Given the description of an element on the screen output the (x, y) to click on. 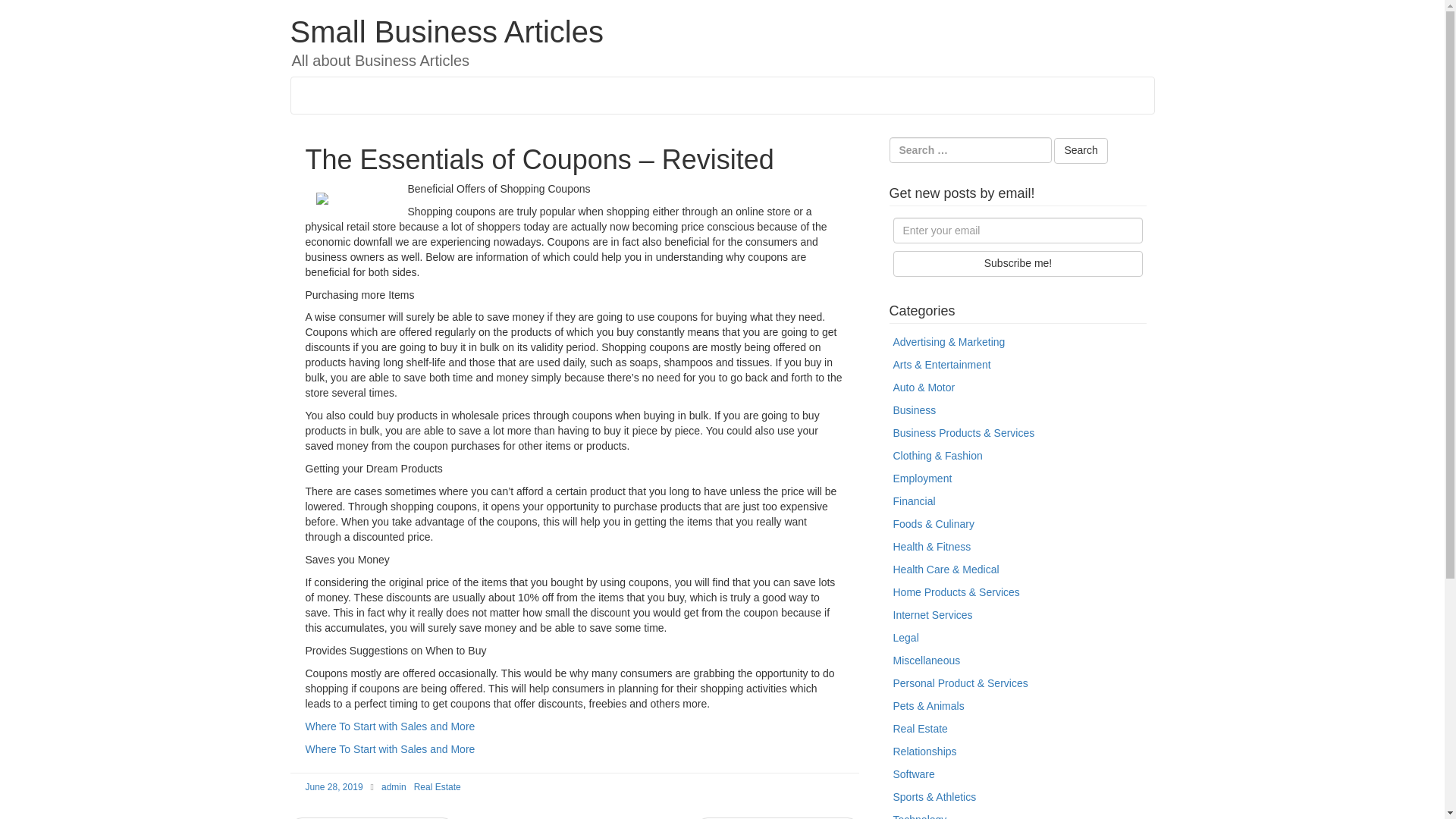
Internet Services (932, 614)
admin (393, 787)
Search (1080, 150)
Business (914, 410)
Search for: (969, 149)
Subscribe me! (1017, 263)
Search (1080, 150)
Financial (914, 500)
Small Business Articles (445, 31)
Small Business Articles (445, 31)
